Given the description of an element on the screen output the (x, y) to click on. 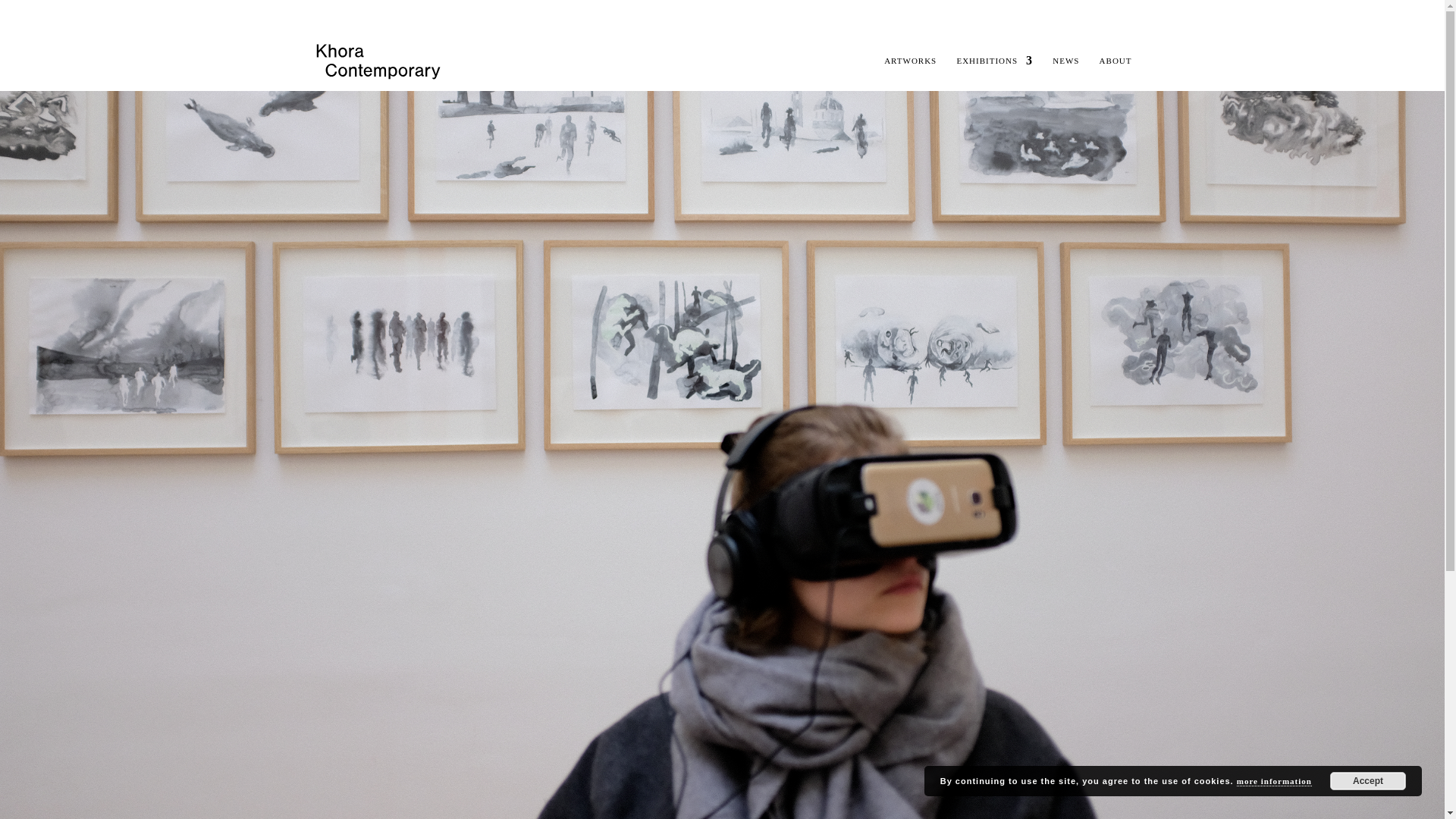
Accept (1368, 781)
ABOUT (1115, 72)
ARTWORKS (909, 72)
more information (1273, 781)
EXHIBITIONS (994, 72)
